Given the description of an element on the screen output the (x, y) to click on. 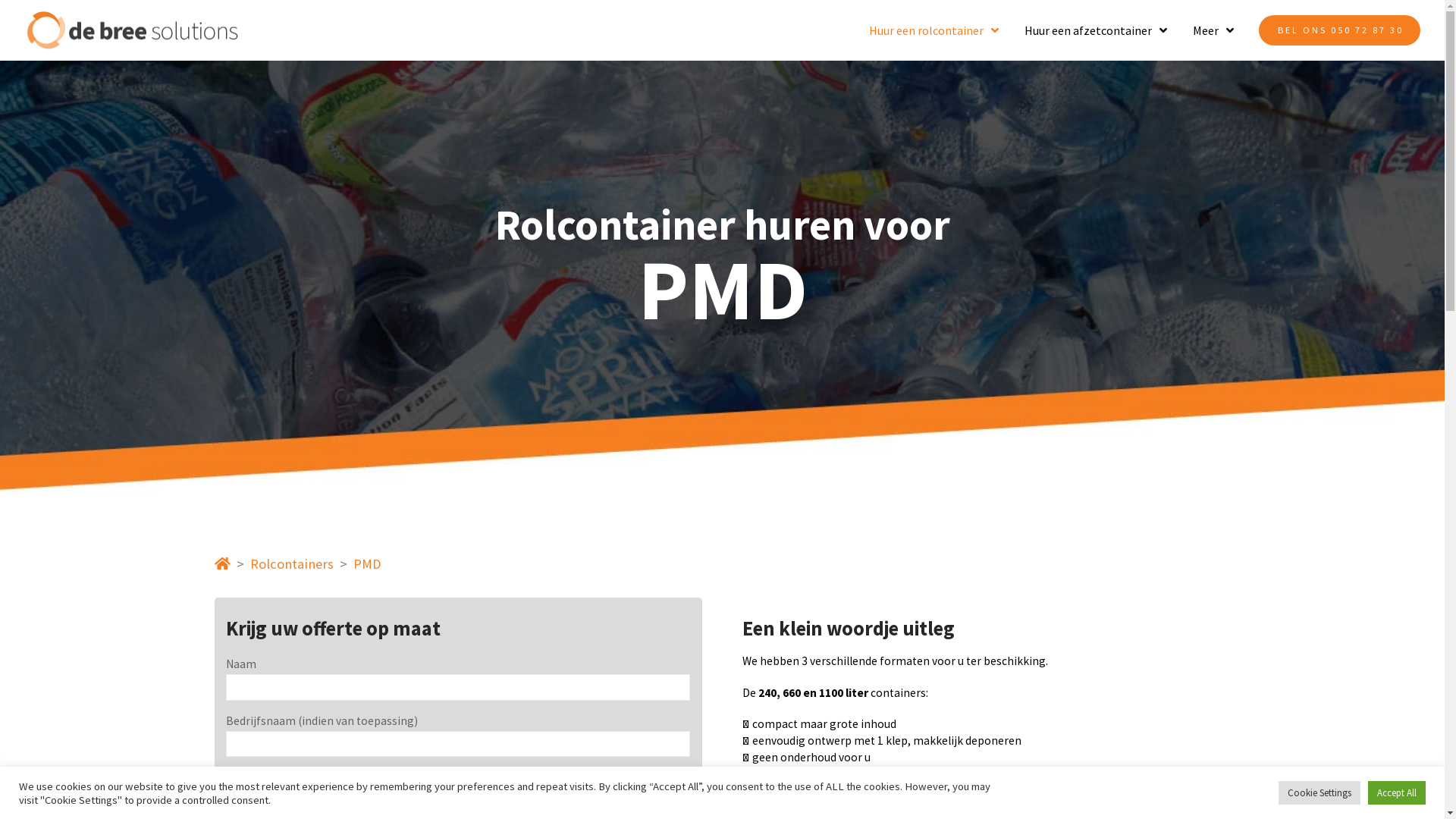
BEL ONS 050 72 87 30 Element type: text (1339, 30)
Accept All Element type: text (1396, 792)
Home Element type: text (222, 563)
Meer Element type: text (1212, 30)
PMD Element type: text (367, 564)
Huur een afzetcontainer Element type: text (1095, 30)
Cookie Settings Element type: text (1319, 792)
Huur een rolcontainer Element type: text (933, 30)
Rolcontainers Element type: text (291, 564)
